Given the description of an element on the screen output the (x, y) to click on. 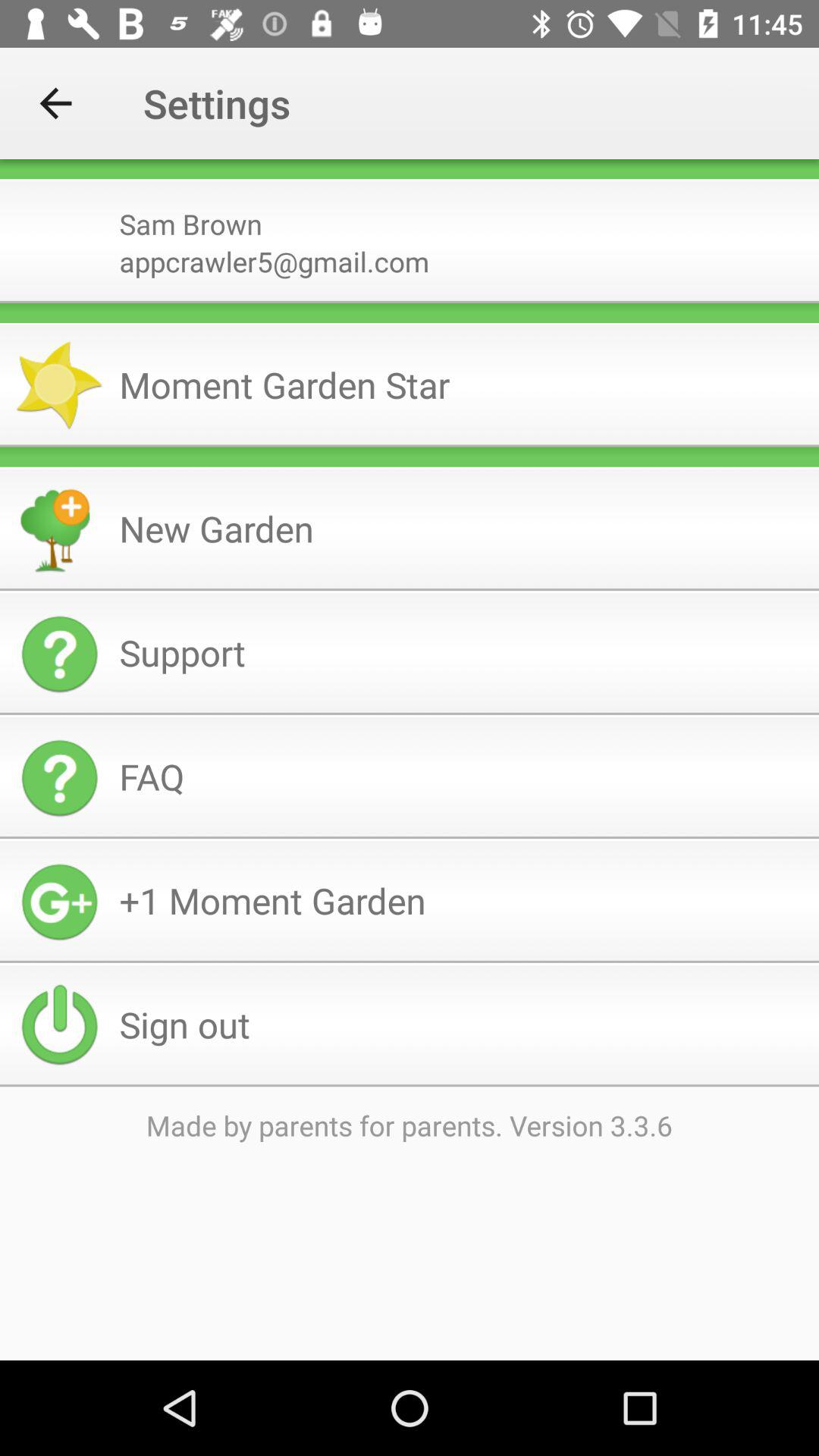
press sam brown (463, 217)
